Given the description of an element on the screen output the (x, y) to click on. 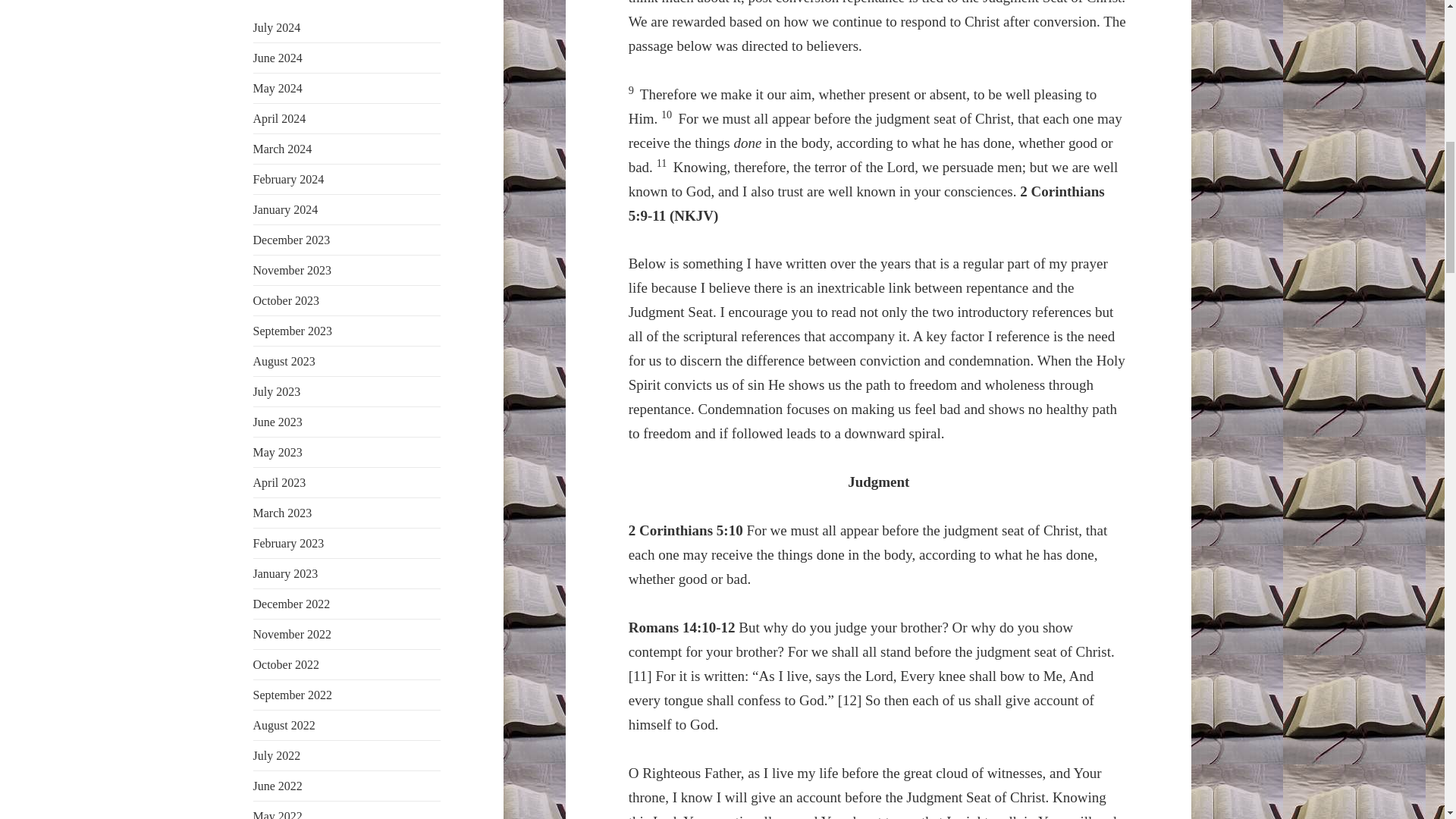
March 2023 (283, 512)
May 2024 (277, 88)
January 2024 (285, 209)
October 2023 (286, 300)
June 2022 (277, 785)
June 2024 (277, 57)
January 2023 (285, 573)
July 2022 (277, 755)
March 2024 (283, 148)
February 2024 (288, 178)
November 2022 (292, 634)
December 2023 (291, 239)
July 2023 (277, 391)
July 2024 (277, 27)
August 2022 (284, 725)
